Given the description of an element on the screen output the (x, y) to click on. 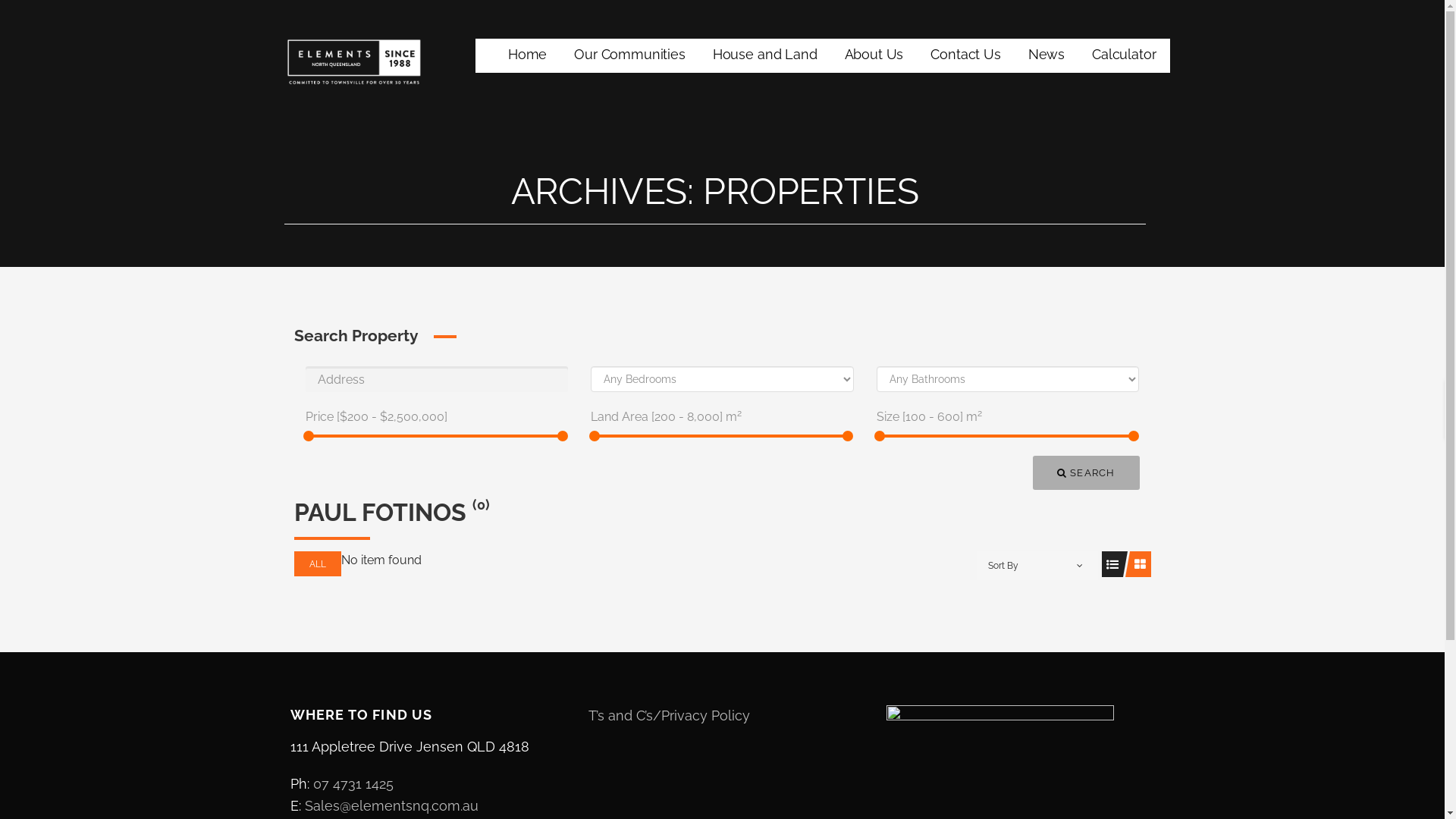
ALL Element type: text (317, 563)
SEARCH Element type: text (1085, 472)
Contact Us Element type: text (965, 55)
Home Element type: text (527, 55)
Skip to content Element type: text (0, 0)
Our Communities Element type: text (629, 55)
Calculator Element type: text (1123, 55)
Sales@elementsnq.com.au Element type: text (391, 805)
News Element type: text (1046, 55)
About Us Element type: text (873, 55)
View as Grid Element type: hover (1140, 564)
Elements North Queensland Element type: text (441, 96)
View as List Element type: hover (1111, 564)
07 4731 1425 Element type: text (352, 783)
House and Land Element type: text (764, 55)
